Given the description of an element on the screen output the (x, y) to click on. 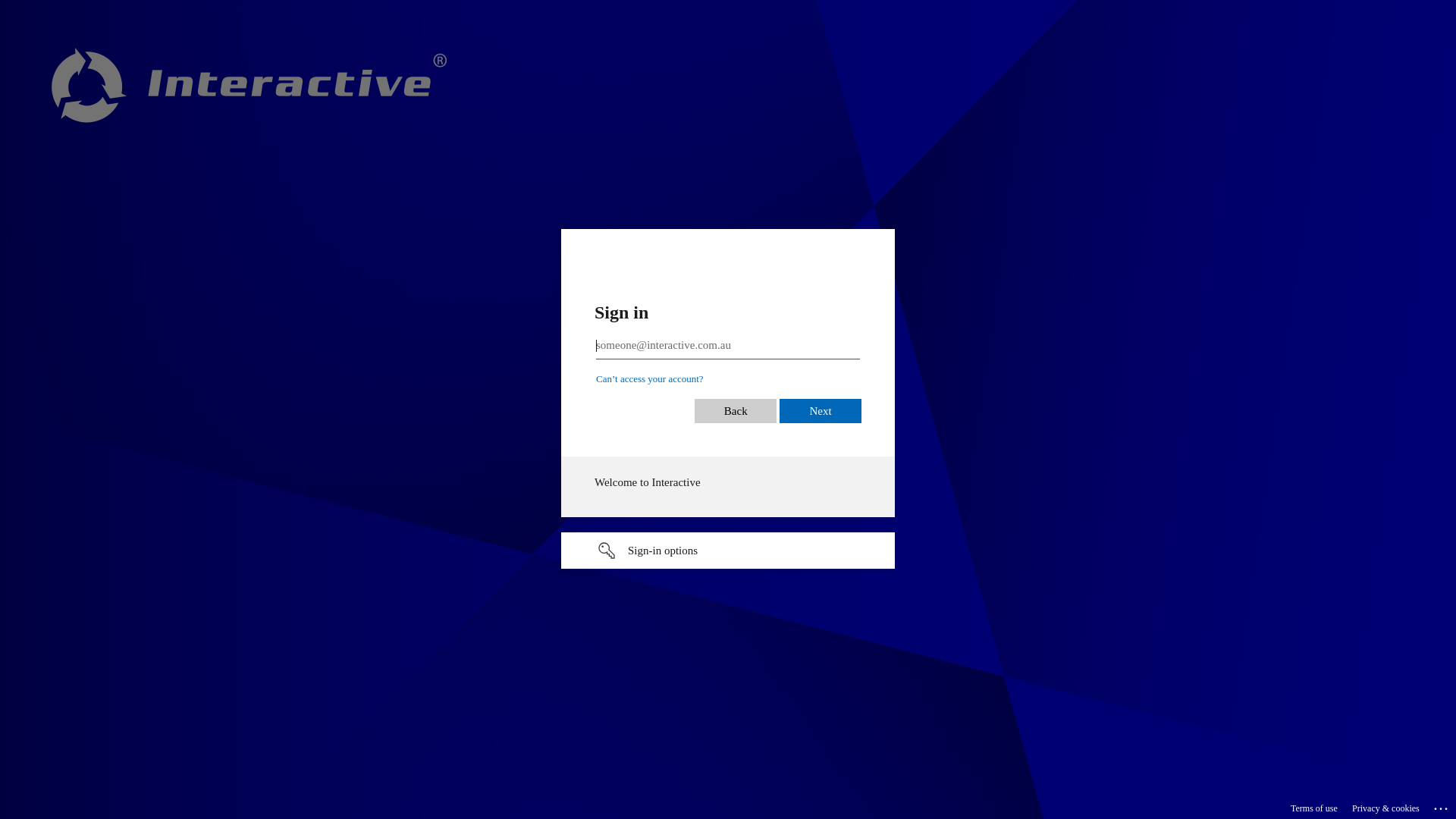
Next Element type: text (820, 410)
... Element type: text (1441, 805)
